Given the description of an element on the screen output the (x, y) to click on. 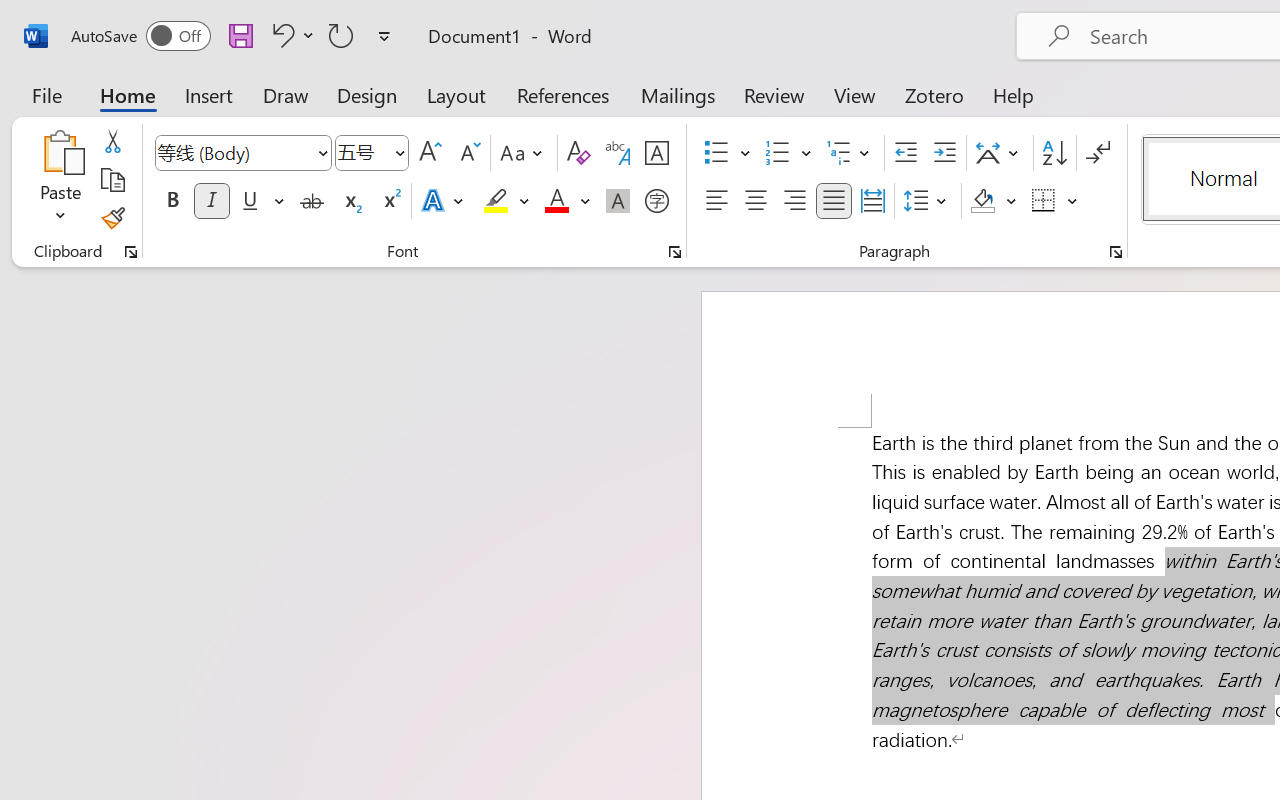
Repeat Doc Close (341, 35)
Line and Paragraph Spacing (927, 201)
Enclose Characters... (656, 201)
Character Shading (618, 201)
Cut (112, 141)
Shading (993, 201)
Italic (212, 201)
Decrease Indent (906, 153)
Open (399, 152)
